Given the description of an element on the screen output the (x, y) to click on. 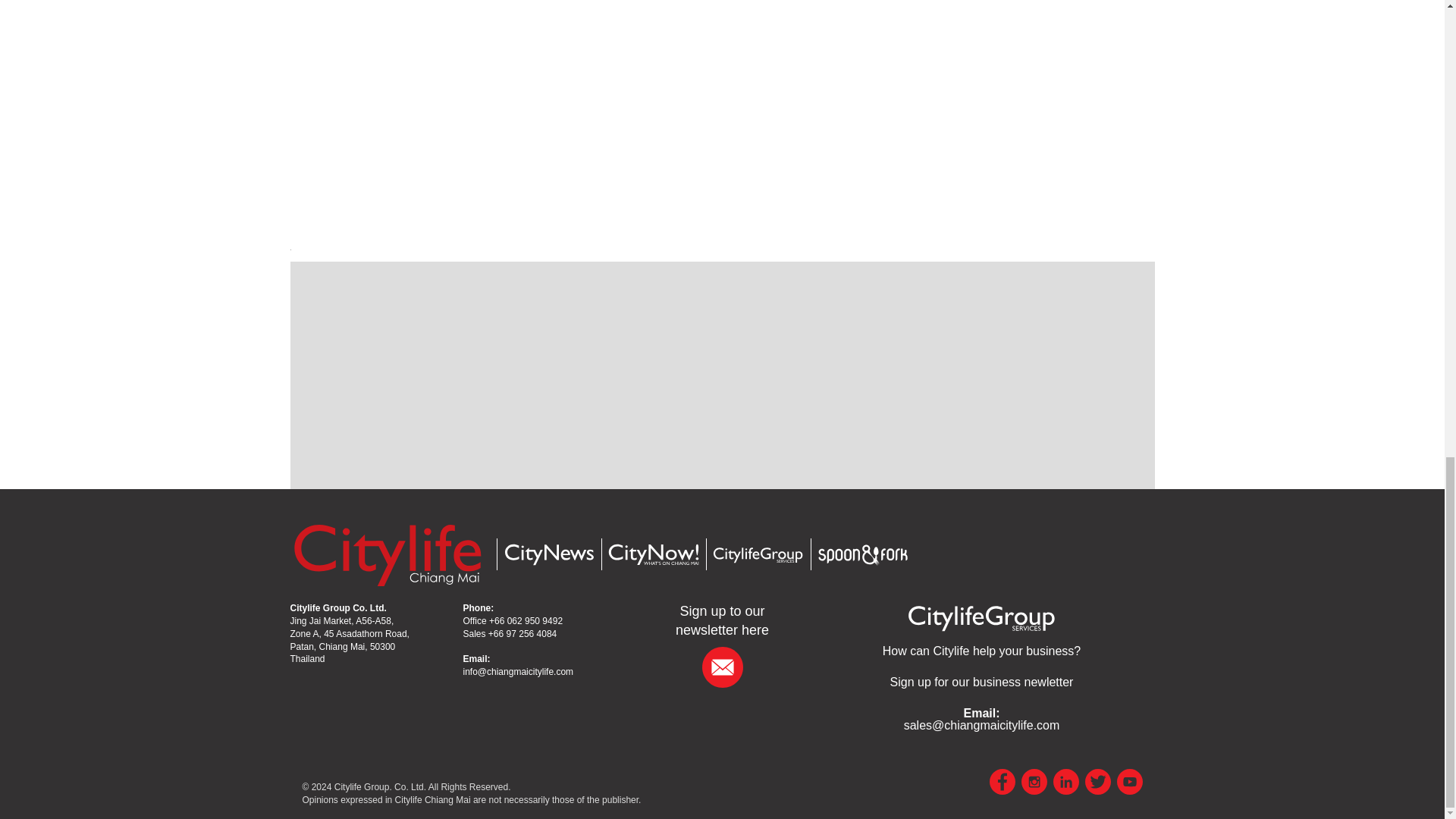
Citylife Group Services (757, 554)
CityNews (548, 554)
CityNow - What's on Chiang Mai (652, 554)
Citylife Group Services (981, 617)
Chiang Mai Citylife (386, 554)
Citylife Group Services (981, 650)
